Given the description of an element on the screen output the (x, y) to click on. 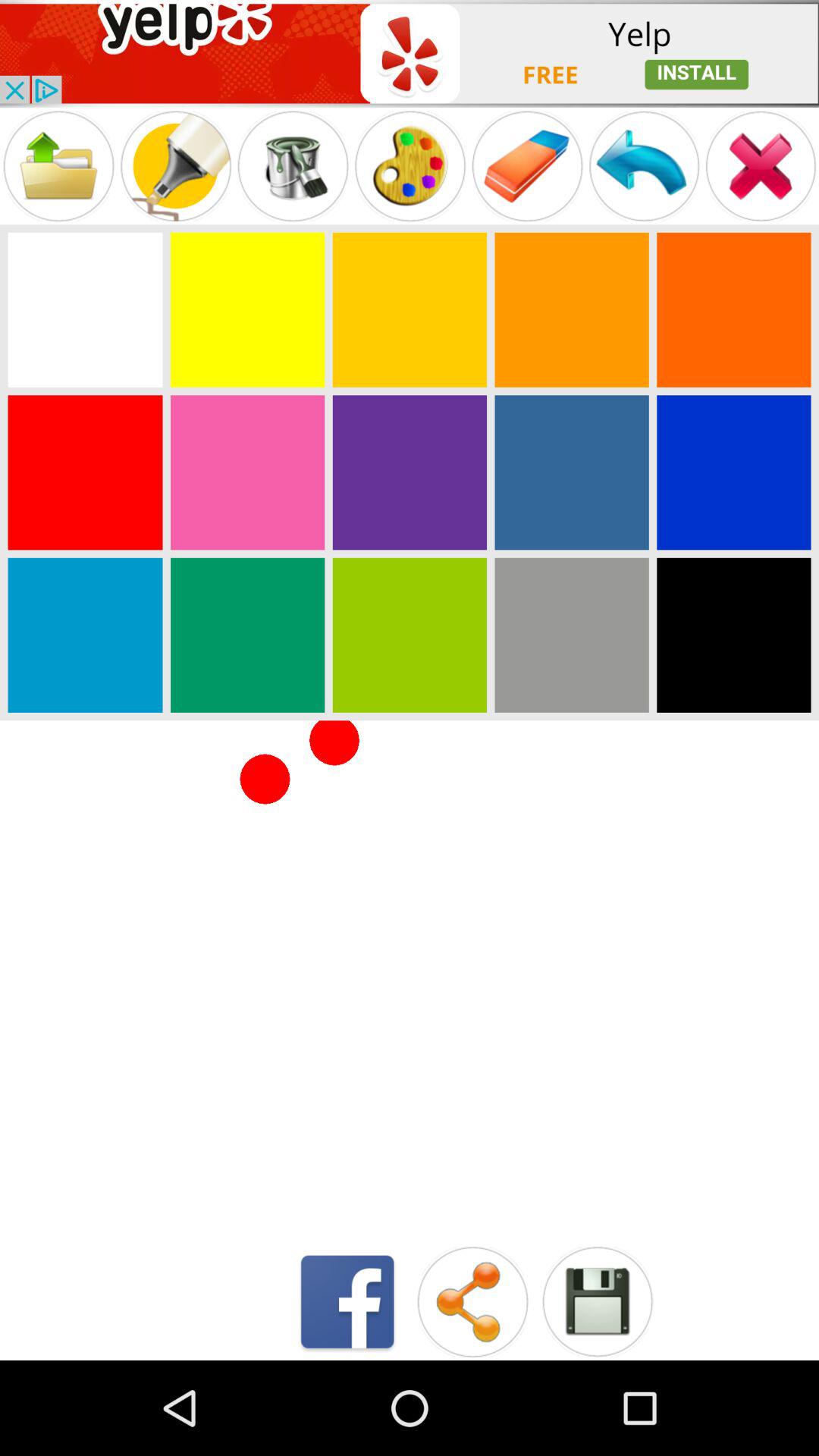
facebook page (347, 1301)
